Given the description of an element on the screen output the (x, y) to click on. 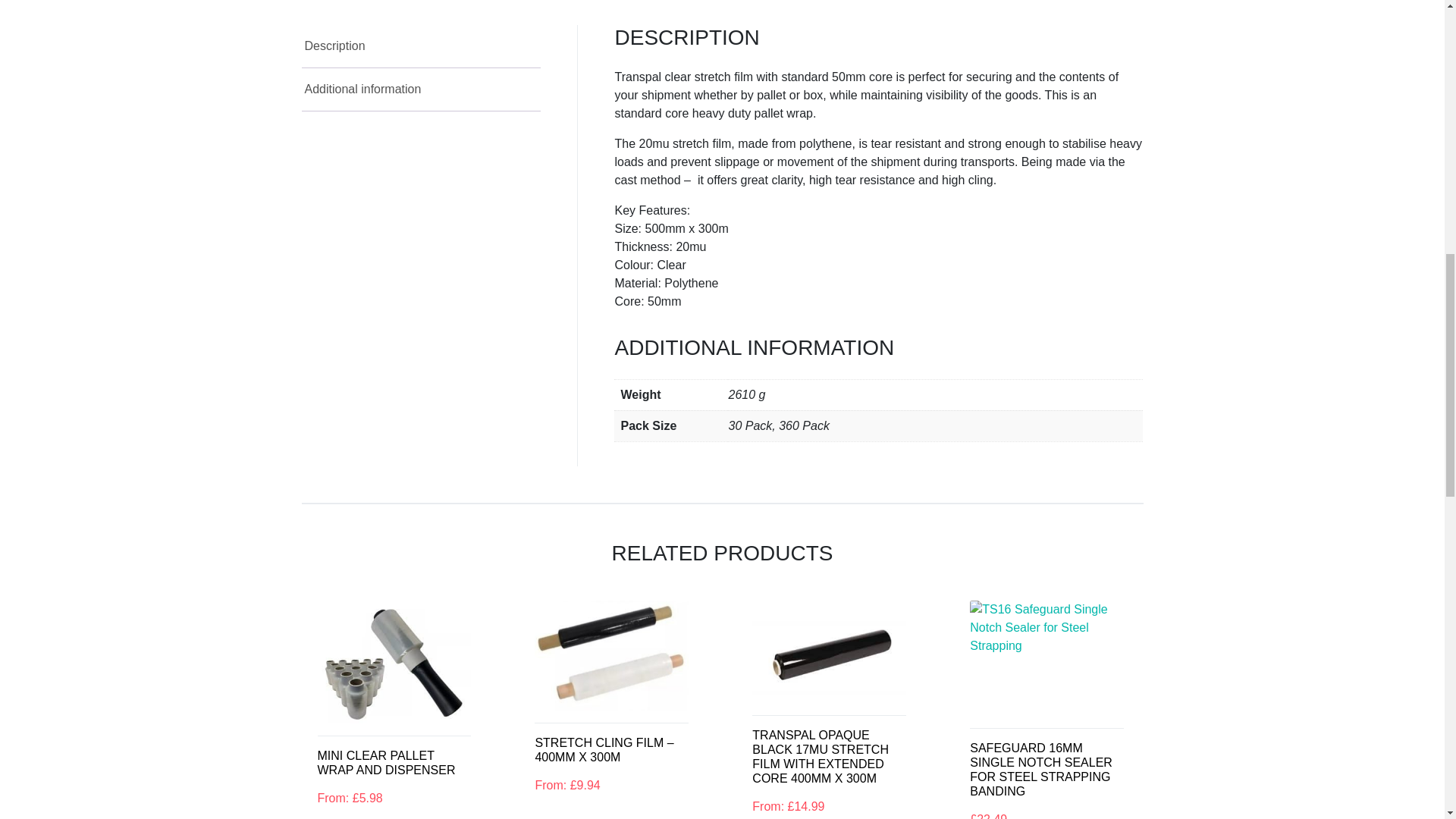
Additional information (421, 88)
Description (421, 46)
